Given the description of an element on the screen output the (x, y) to click on. 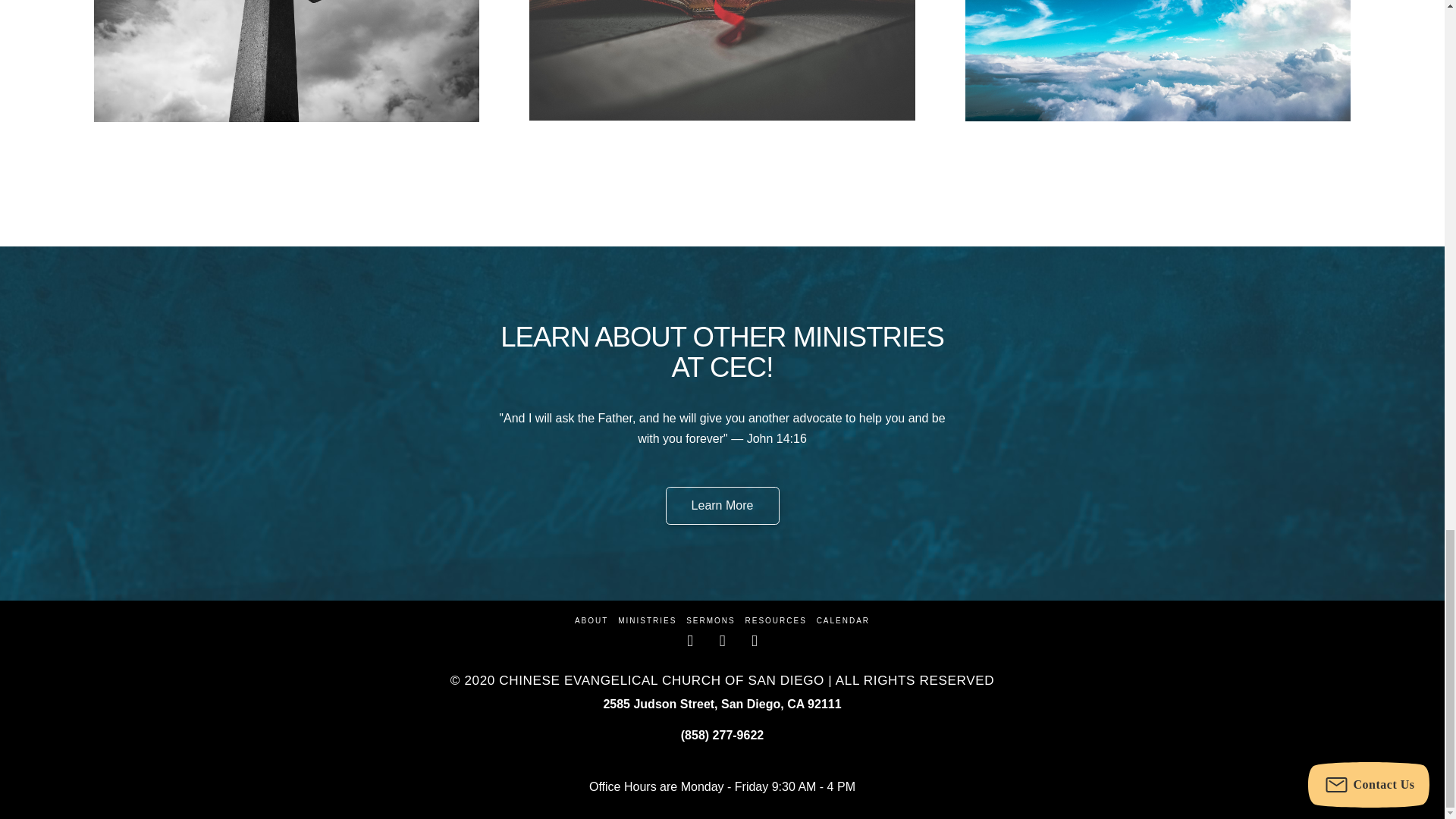
CALENDAR (842, 620)
SERMONS (710, 620)
MINISTRIES (647, 620)
RESOURCES (775, 620)
Learn More (721, 505)
ABOUT (591, 620)
